Given the description of an element on the screen output the (x, y) to click on. 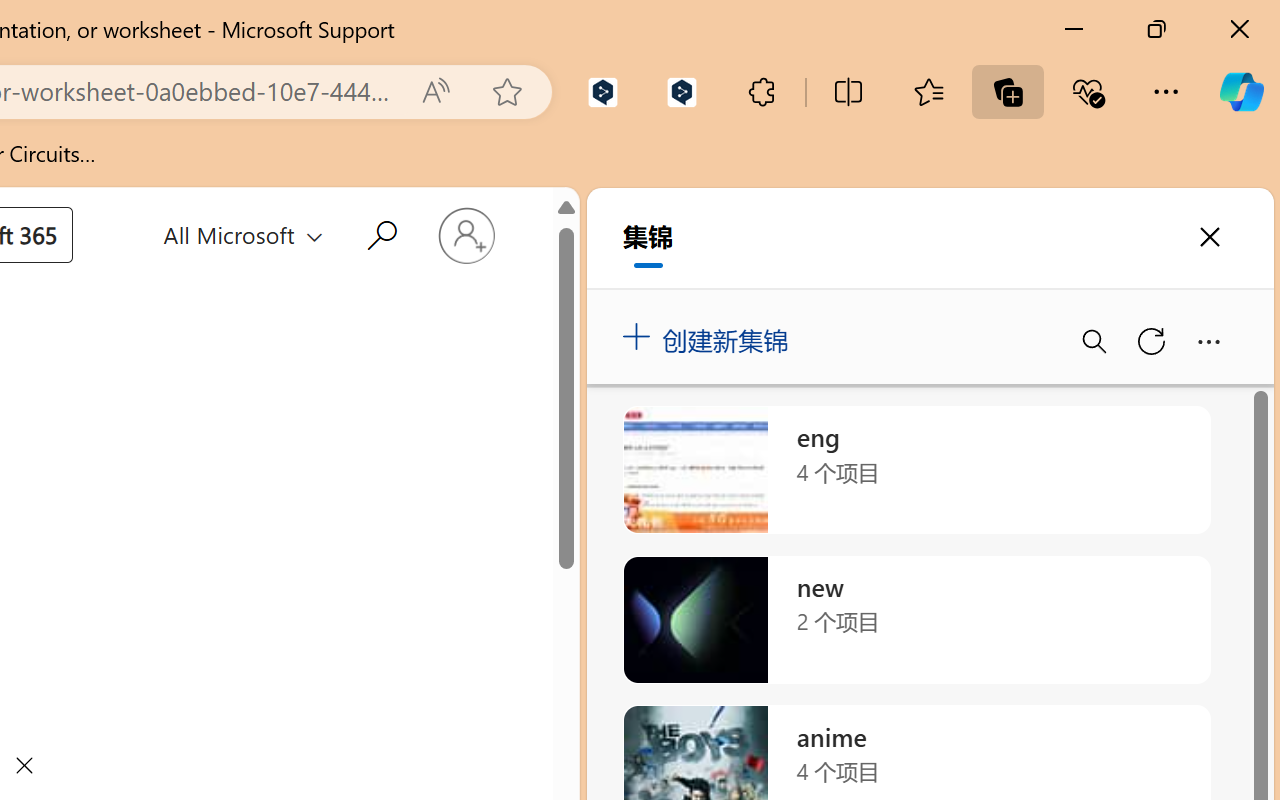
Search for help (378, 232)
Sign in to your account (465, 235)
